Given the description of an element on the screen output the (x, y) to click on. 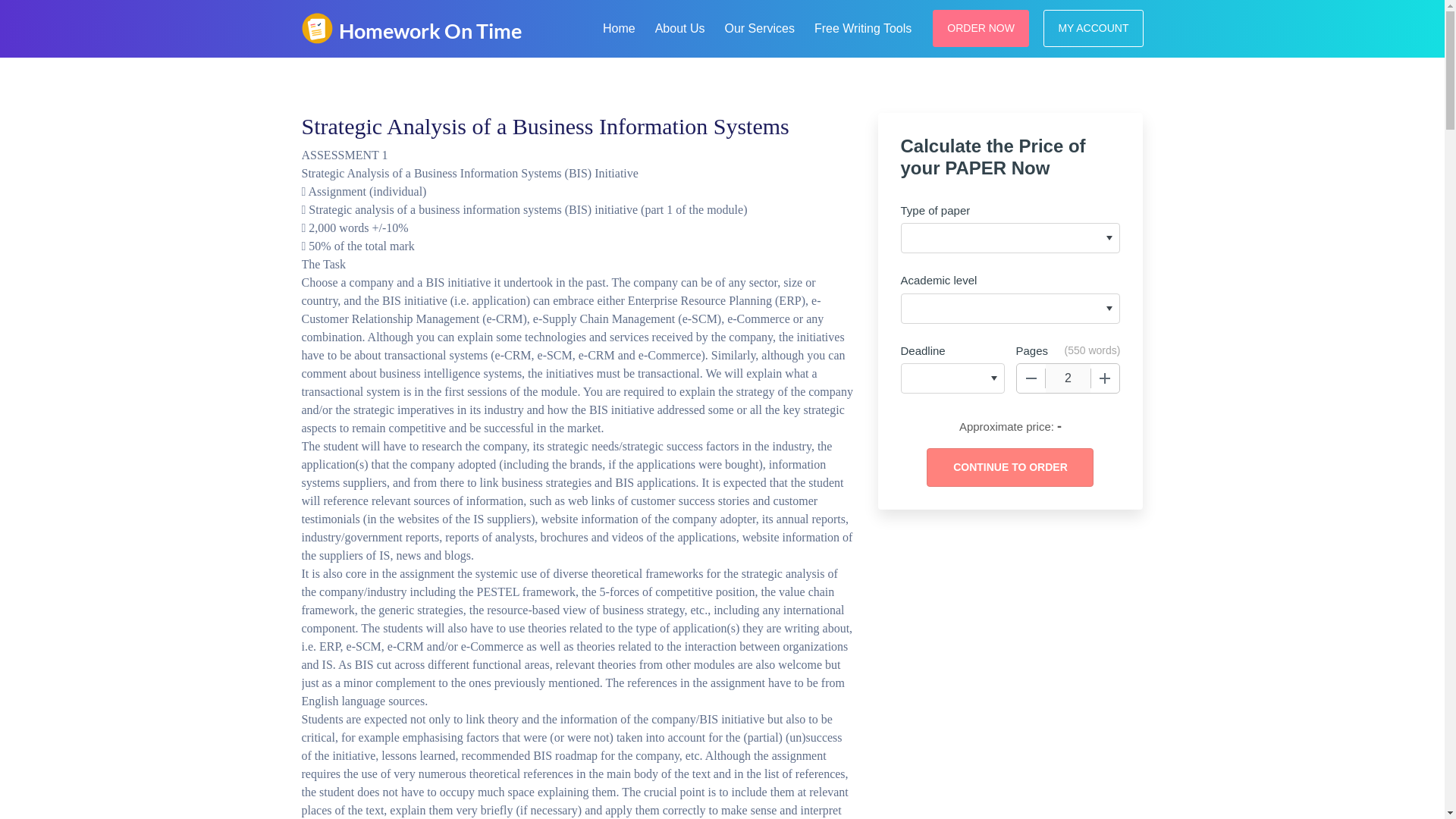
2 (1067, 378)
Our Services (758, 26)
Our Services (758, 26)
MY ACCOUNT (1092, 27)
Home (619, 26)
Continue to order (1009, 466)
Free Writing Tools (862, 26)
Continue to order (1009, 466)
Increase (1104, 378)
Home (619, 26)
